Given the description of an element on the screen output the (x, y) to click on. 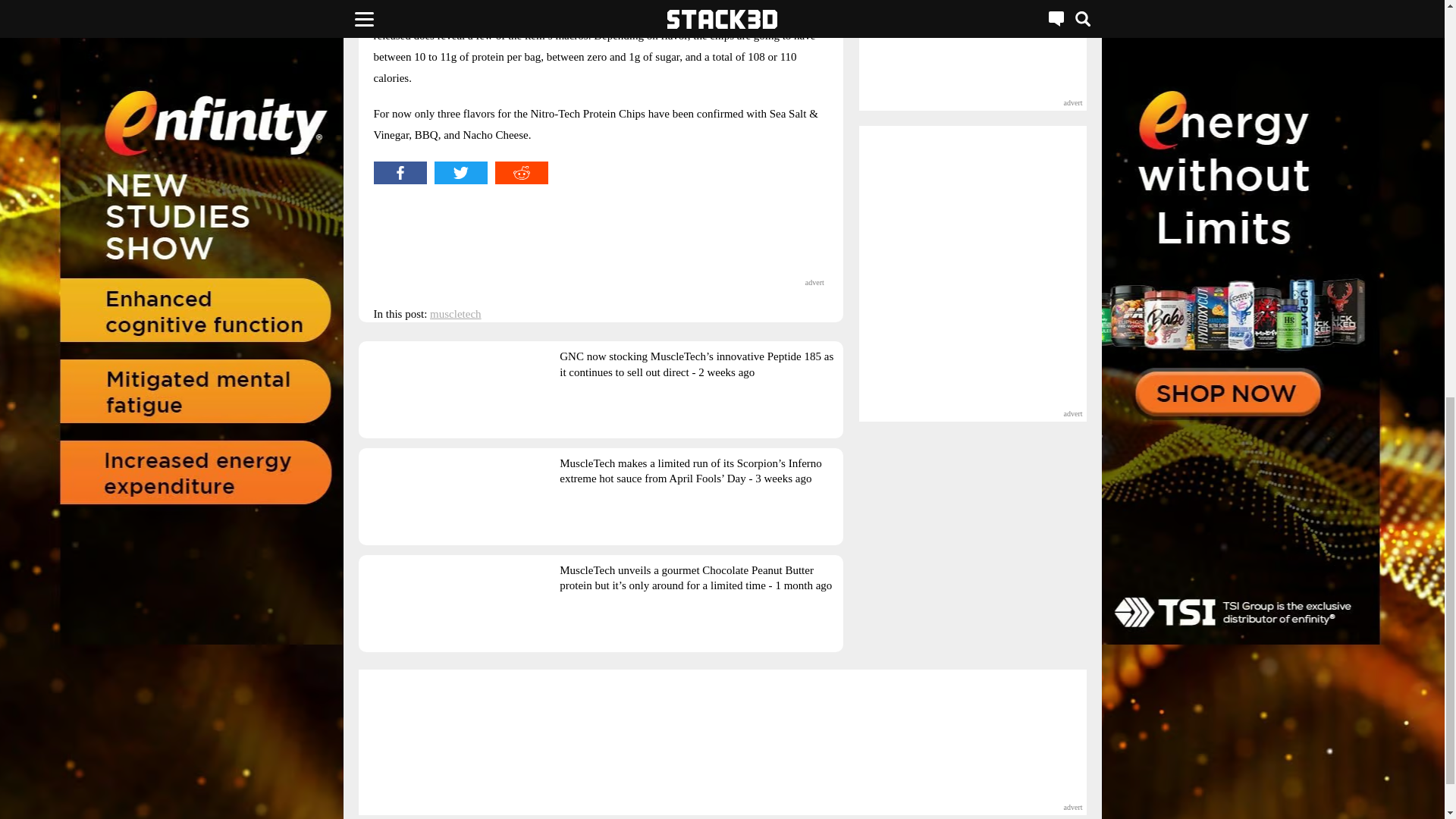
muscletech (454, 313)
